Given the description of an element on the screen output the (x, y) to click on. 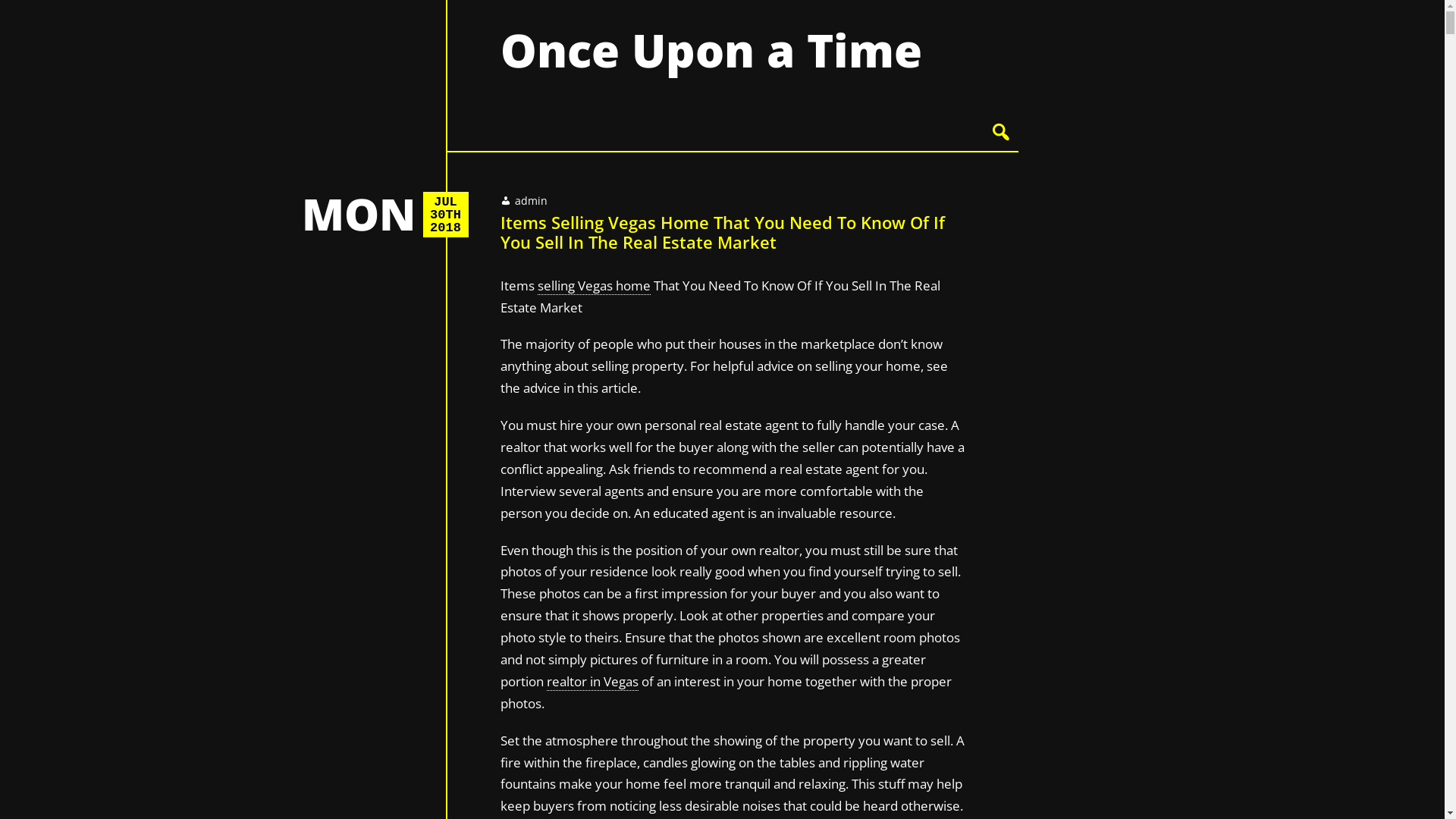
Once Upon a Time Element type: text (711, 49)
selling Vegas home Element type: text (592, 285)
admin Element type: text (530, 200)
realtor in Vegas Element type: text (591, 681)
